Given the description of an element on the screen output the (x, y) to click on. 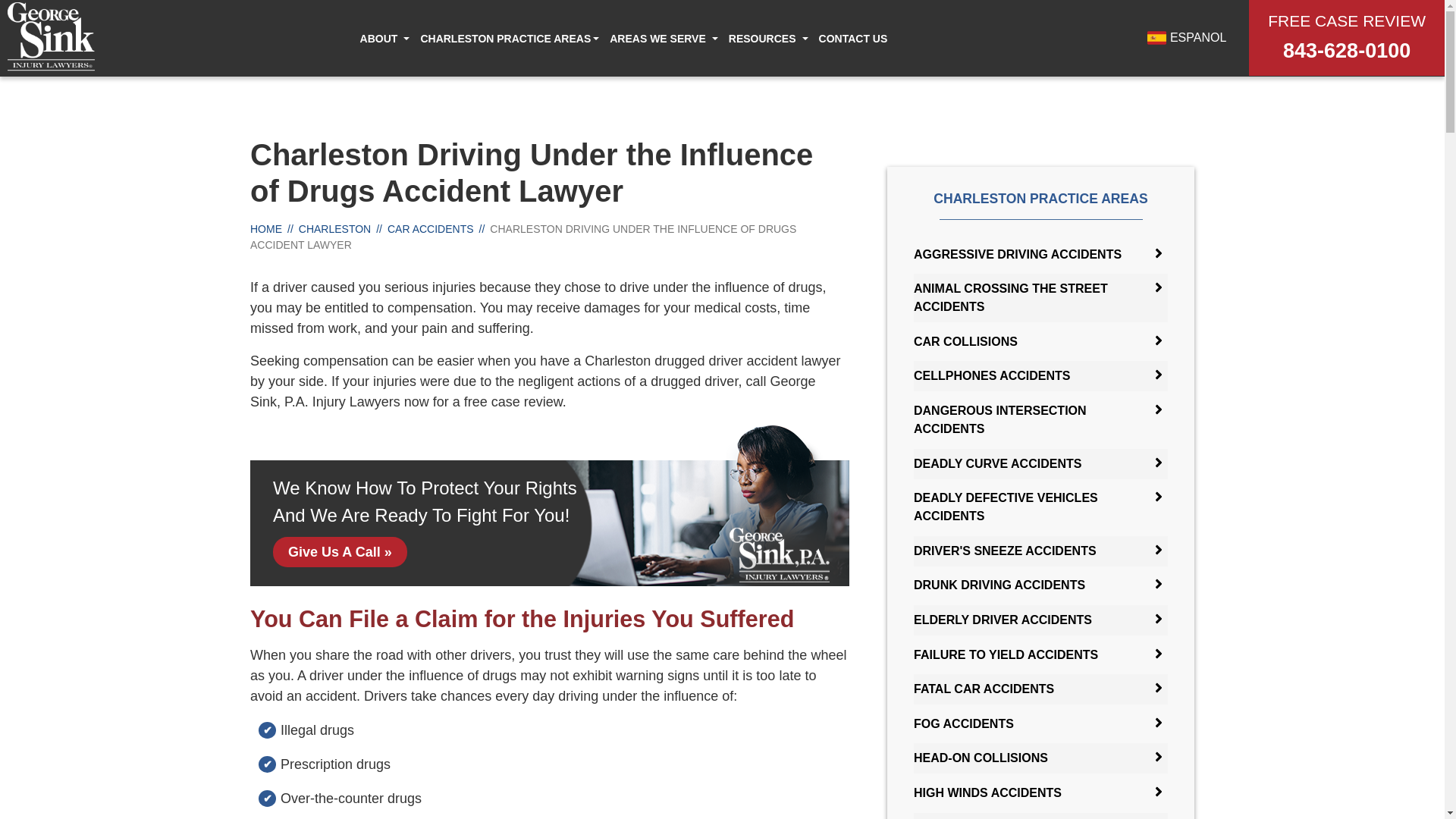
Charleston, SC (597, 75)
All Areas We Serve (598, 75)
Car Accidents (611, 75)
RESOURCES (762, 38)
George Sink, P.A. Injury Lawyers (51, 39)
Bicycle Accidents (414, 75)
Our Attorneys (388, 75)
AREAS WE SERVE (658, 38)
ABOUT (378, 38)
Blog (771, 75)
